Given the description of an element on the screen output the (x, y) to click on. 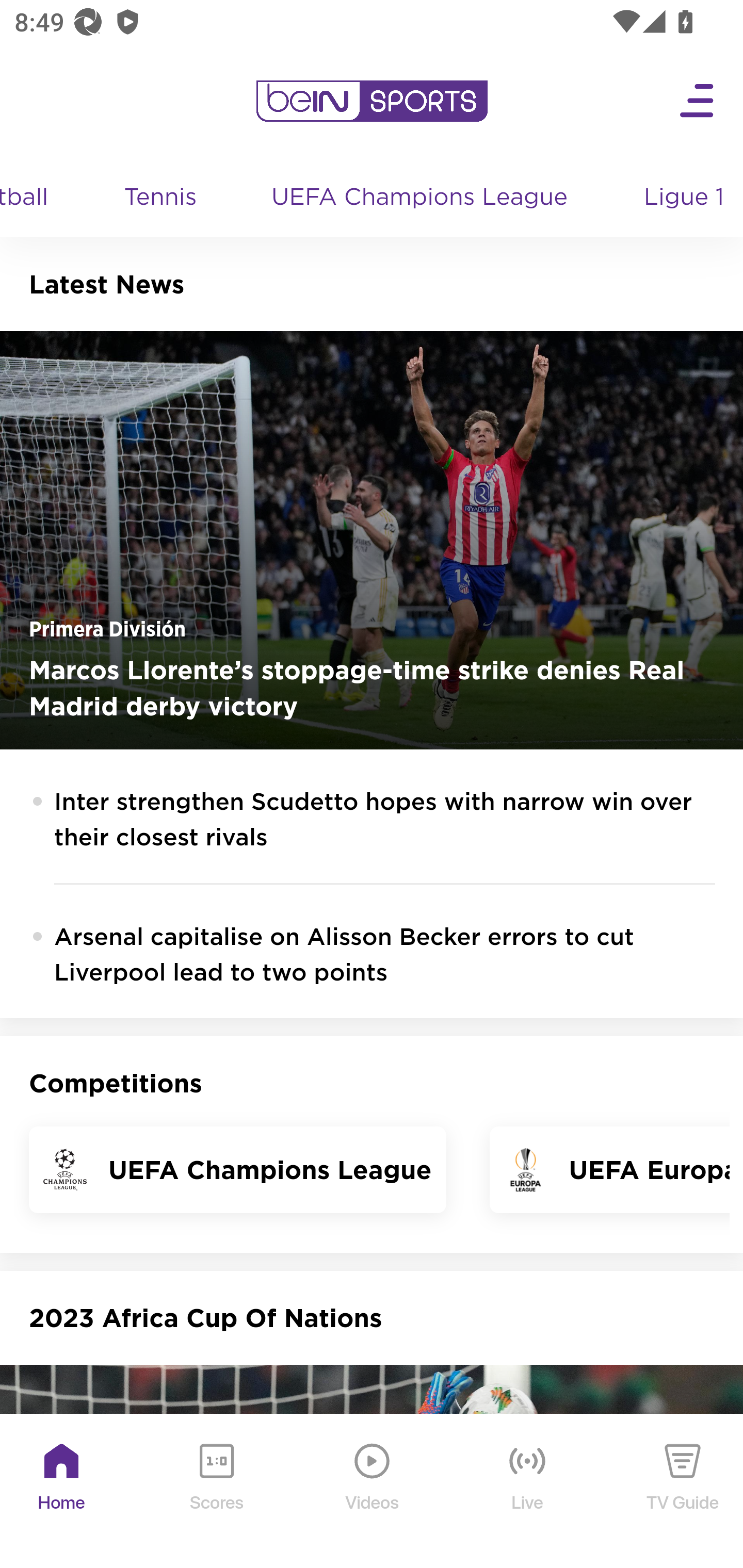
en-my?platform=mobile_android bein logo (371, 101)
Open Menu Icon (697, 101)
Tennis (161, 198)
UEFA Champions League (421, 198)
Ligue 1 (685, 198)
Home Home Icon Home (61, 1491)
Scores Scores Icon Scores (216, 1491)
Videos Videos Icon Videos (372, 1491)
TV Guide TV Guide Icon TV Guide (682, 1491)
